Given the description of an element on the screen output the (x, y) to click on. 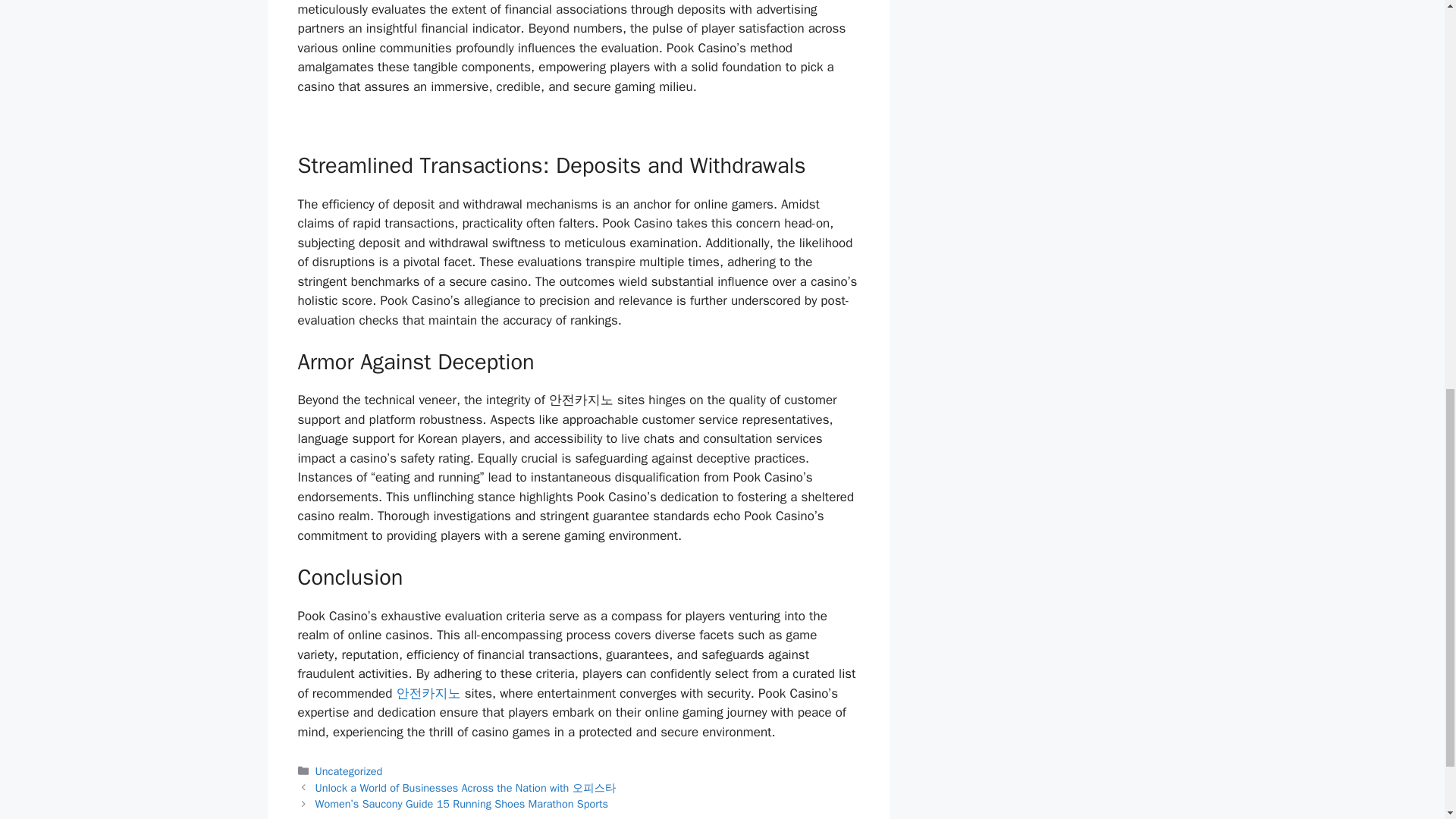
Uncategorized (348, 771)
